Given the description of an element on the screen output the (x, y) to click on. 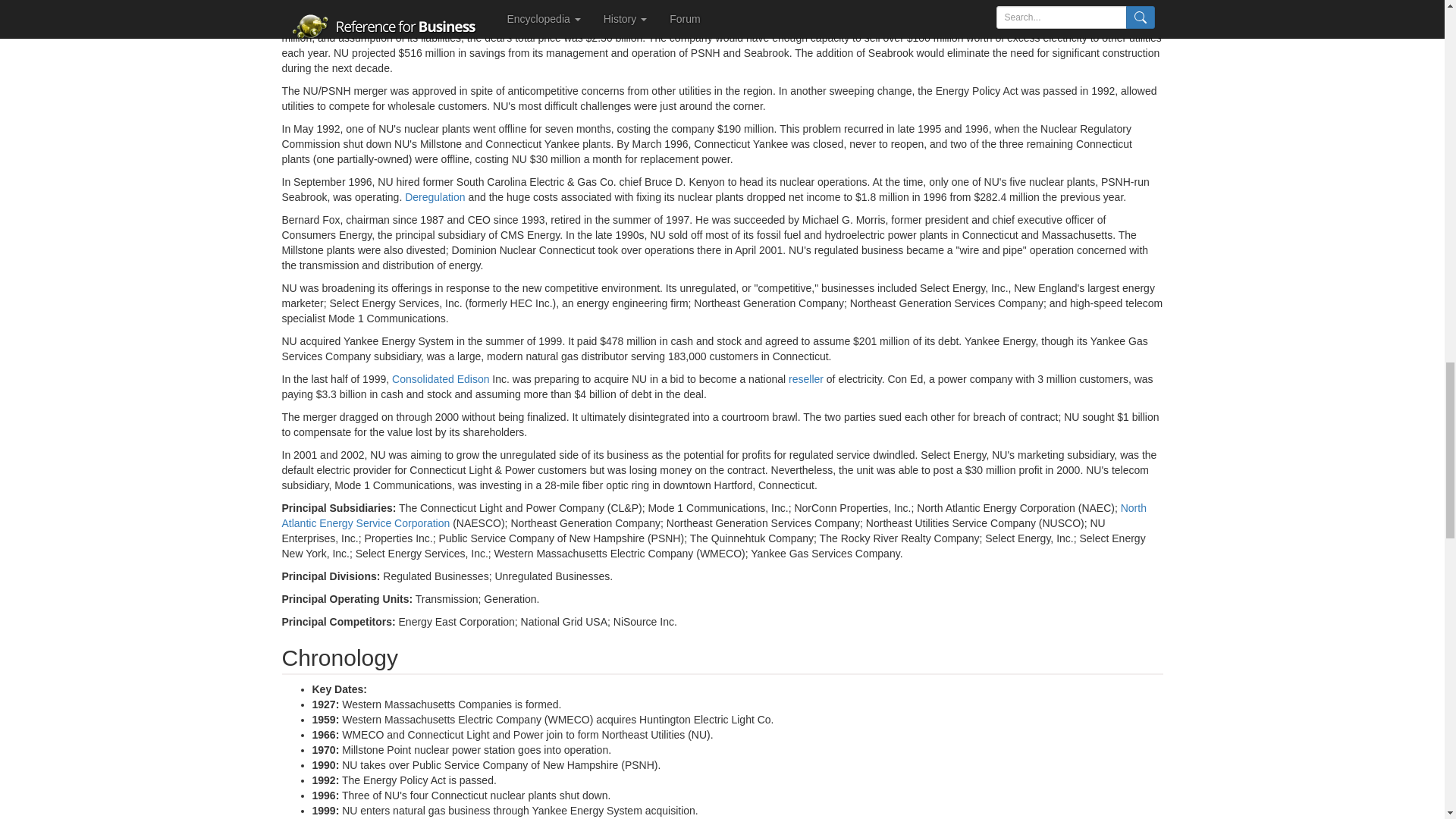
View 'consolidated edison' definition from Wikipedia (440, 378)
Deregulation (434, 196)
View 'reseller' definition from Wikipedia (806, 378)
reseller (806, 378)
Nuclear Regulatory Commission (715, 14)
North Atlantic Energy Service Corporation (714, 515)
Consolidated Edison (440, 378)
View 'deregulation' definition from Wikipedia (434, 196)
